Given the description of an element on the screen output the (x, y) to click on. 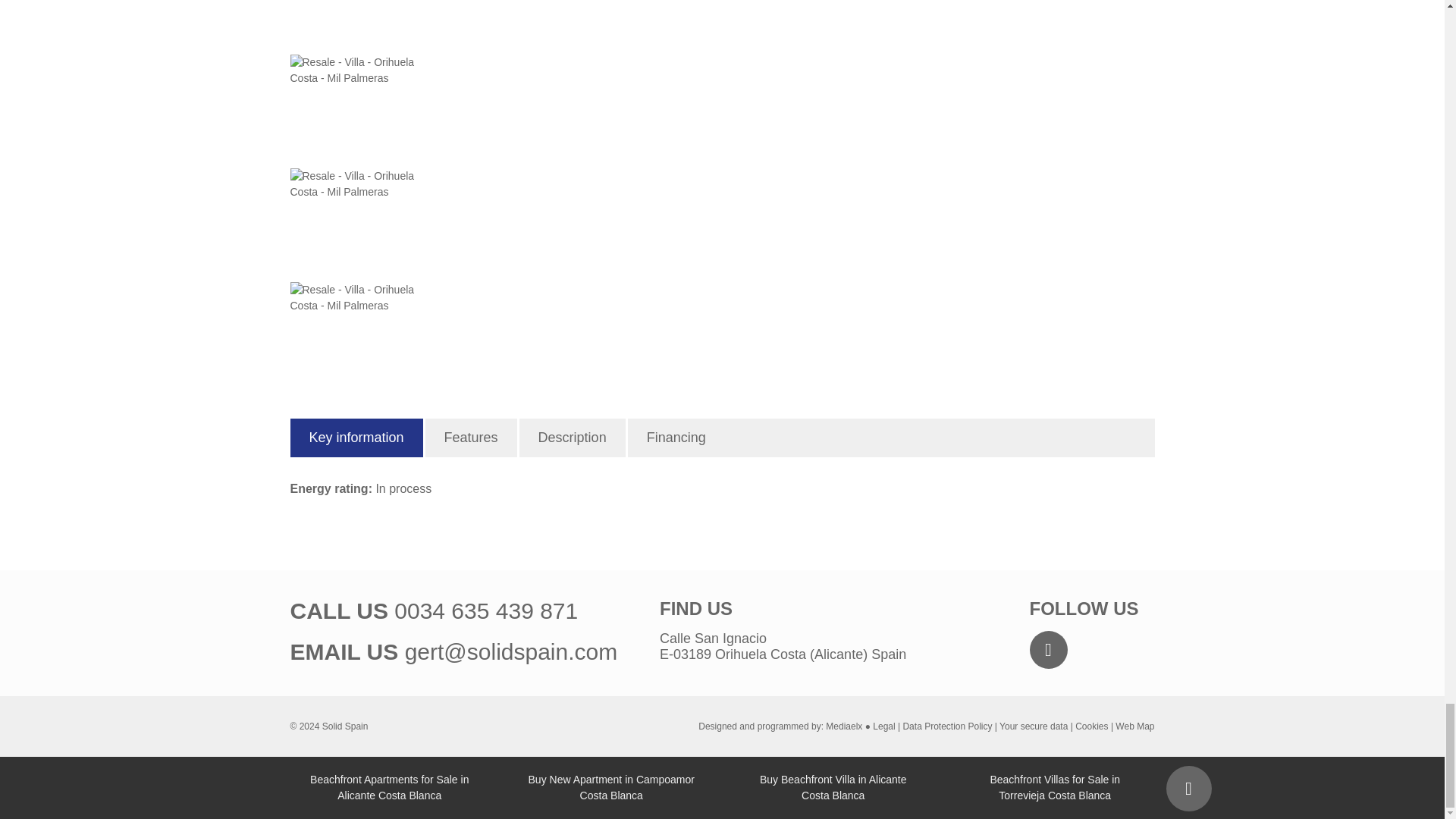
Resale - Villa - Orihuela Costa - Mil Palmeras (365, 224)
Resale - Villa - Orihuela Costa - Mil Palmeras (365, 27)
Resale - Villa - Orihuela Costa - Mil Palmeras (365, 338)
Resale - Villa - Orihuela Costa - Mil Palmeras (365, 111)
